Given the description of an element on the screen output the (x, y) to click on. 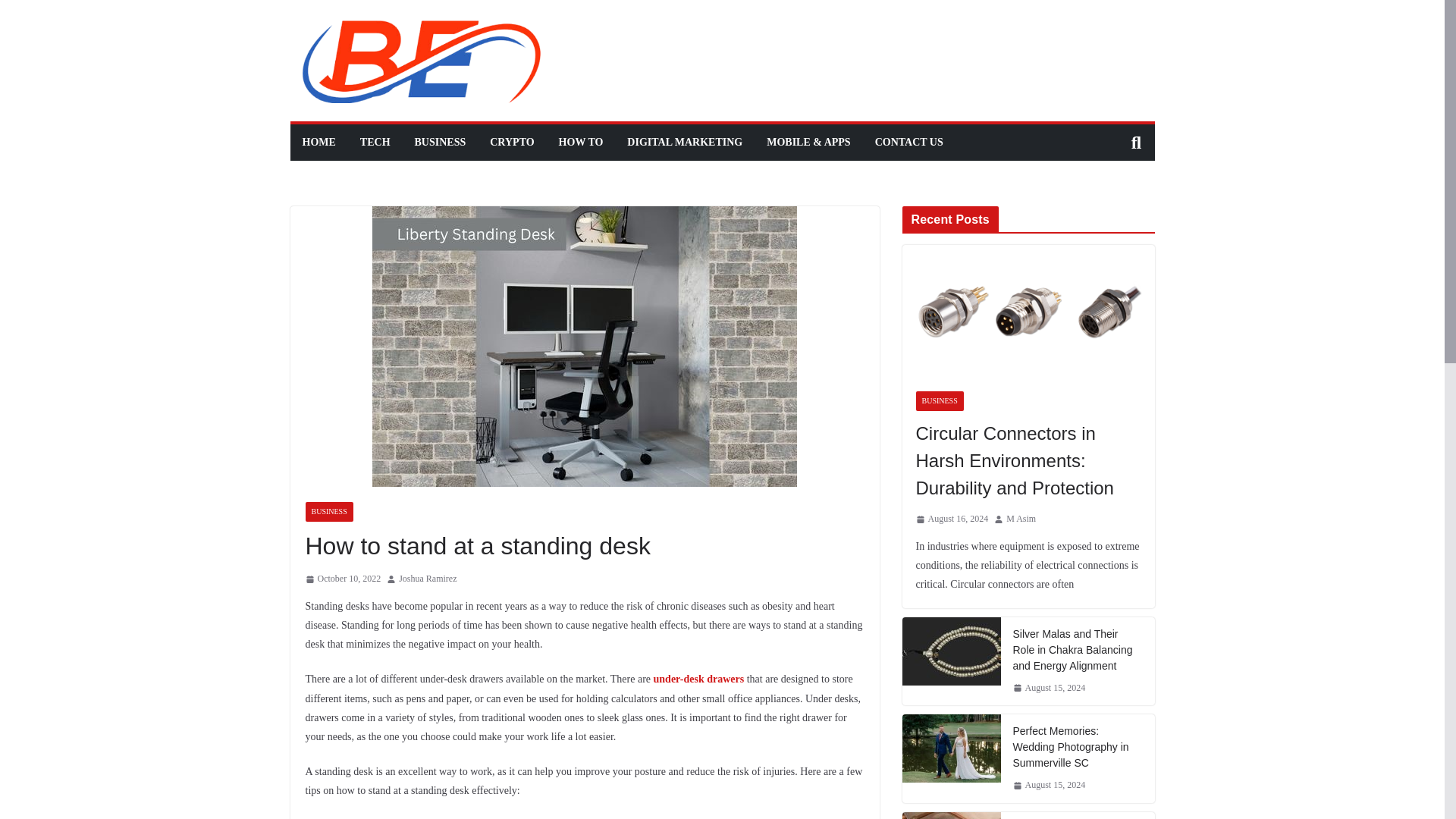
M Asim (1020, 519)
BUSINESS (439, 142)
BUSINESS (939, 401)
4:32 am (342, 579)
HOME (317, 142)
August 15, 2024 (1049, 688)
Joshua Ramirez (427, 579)
BUSINESS (328, 511)
August 16, 2024 (951, 519)
CRYPTO (511, 142)
